Given the description of an element on the screen output the (x, y) to click on. 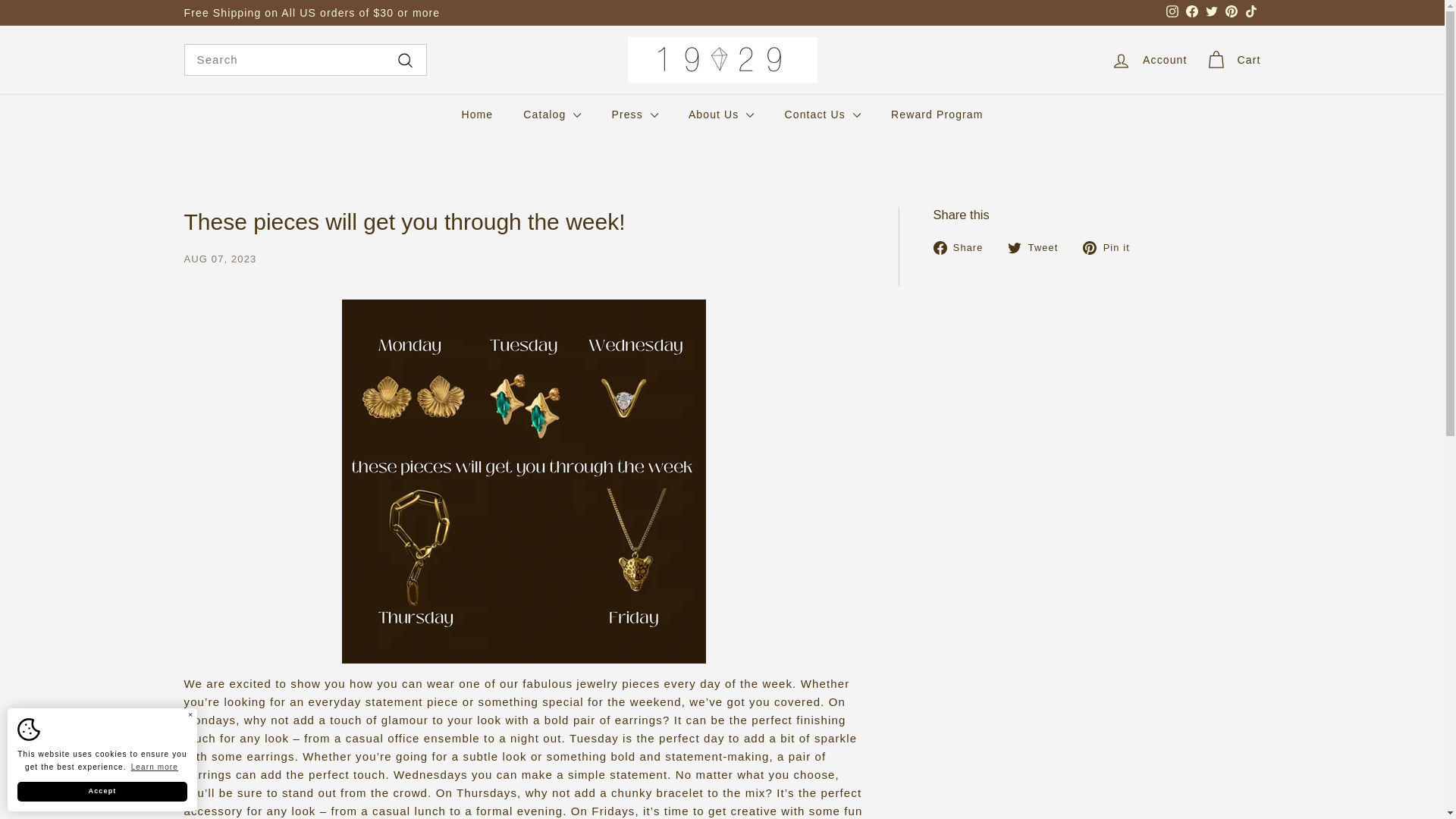
twitter (1211, 10)
Learn more (154, 766)
Account (1148, 59)
instagram (1171, 10)
Cart (1232, 59)
twitter (1014, 247)
Tweet on Twitter (1037, 247)
Accept (102, 791)
Home (476, 114)
Pin on Pinterest (1111, 247)
